Given the description of an element on the screen output the (x, y) to click on. 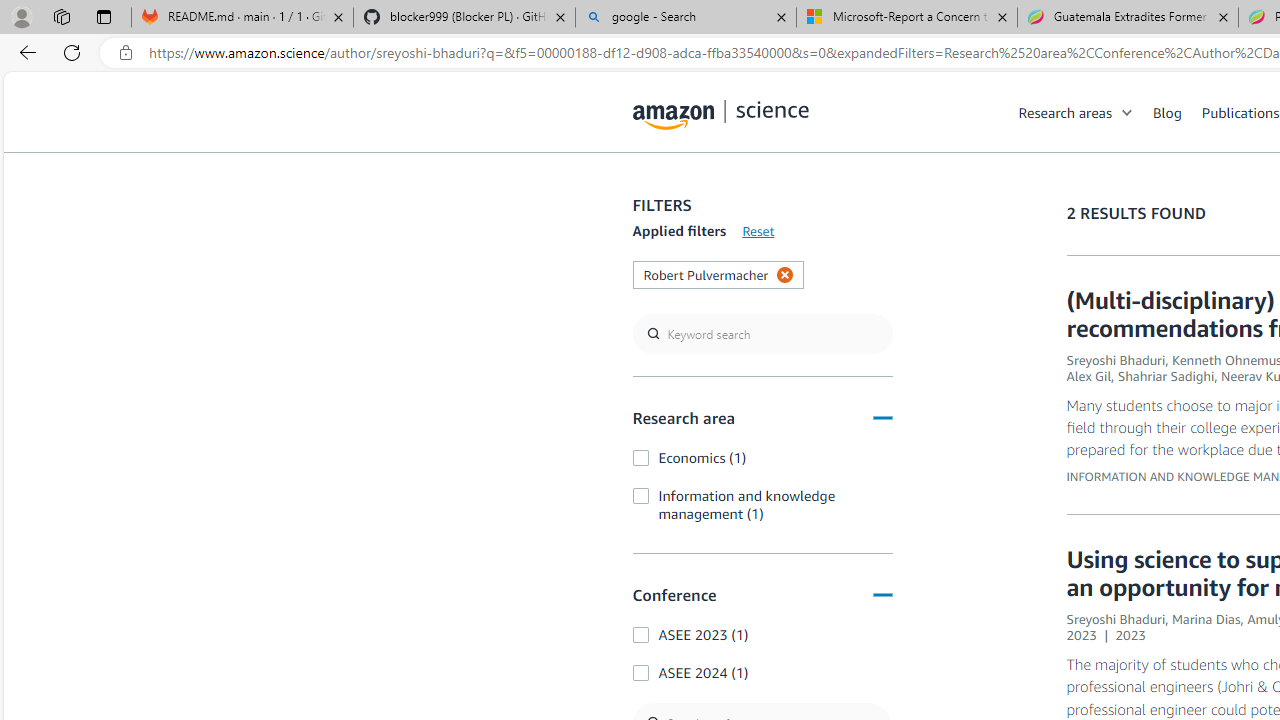
Sreyoshi Bhaduri (1116, 619)
Research areas (1085, 111)
search (762, 333)
